Given the description of an element on the screen output the (x, y) to click on. 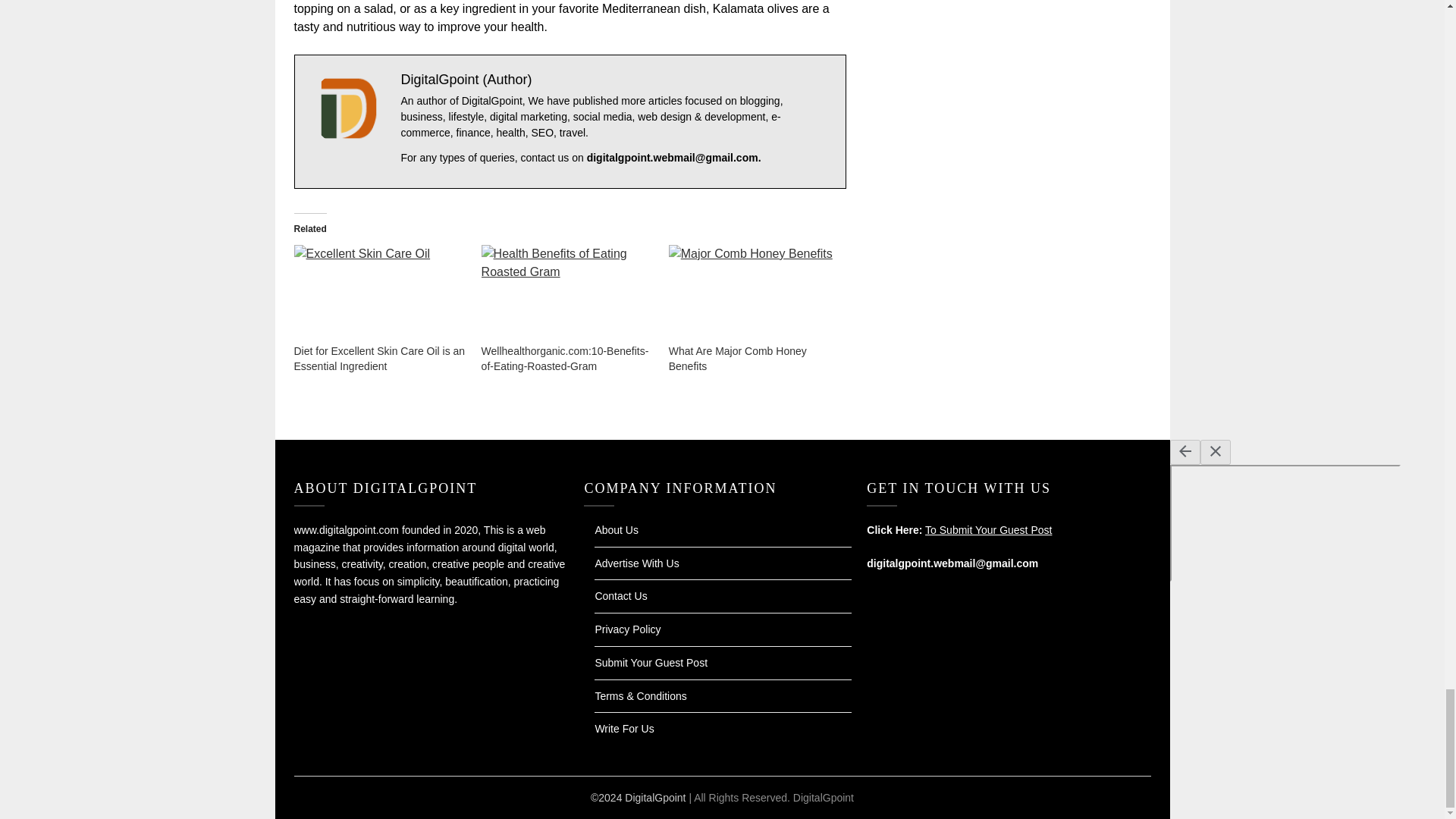
What Are Major Comb Honey Benefits (737, 358)
Wellhealthorganic.com:10-Benefits-of-Eating-Roasted-Gram (565, 358)
Diet for Excellent Skin Care Oil is an Essential Ingredient (379, 358)
